Given the description of an element on the screen output the (x, y) to click on. 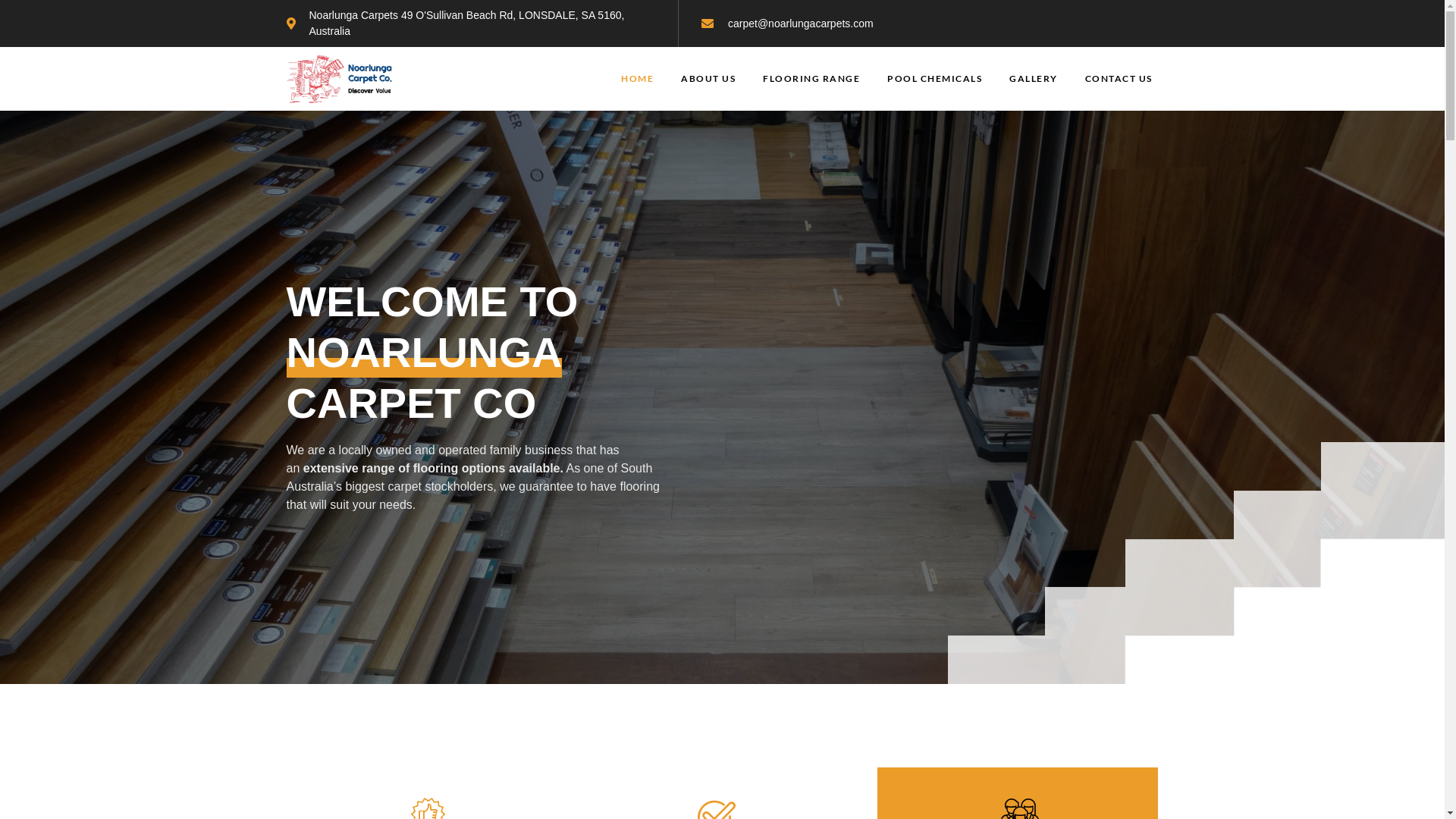
carpet@noarlungacarpets.com Element type: text (787, 23)
CONTACT US Element type: text (1117, 78)
ABOUT US Element type: text (708, 78)
GALLERY Element type: text (1033, 78)
POOL CHEMICALS Element type: text (934, 78)
HOME Element type: text (637, 78)
FLOORING RANGE Element type: text (811, 78)
